Given the description of an element on the screen output the (x, y) to click on. 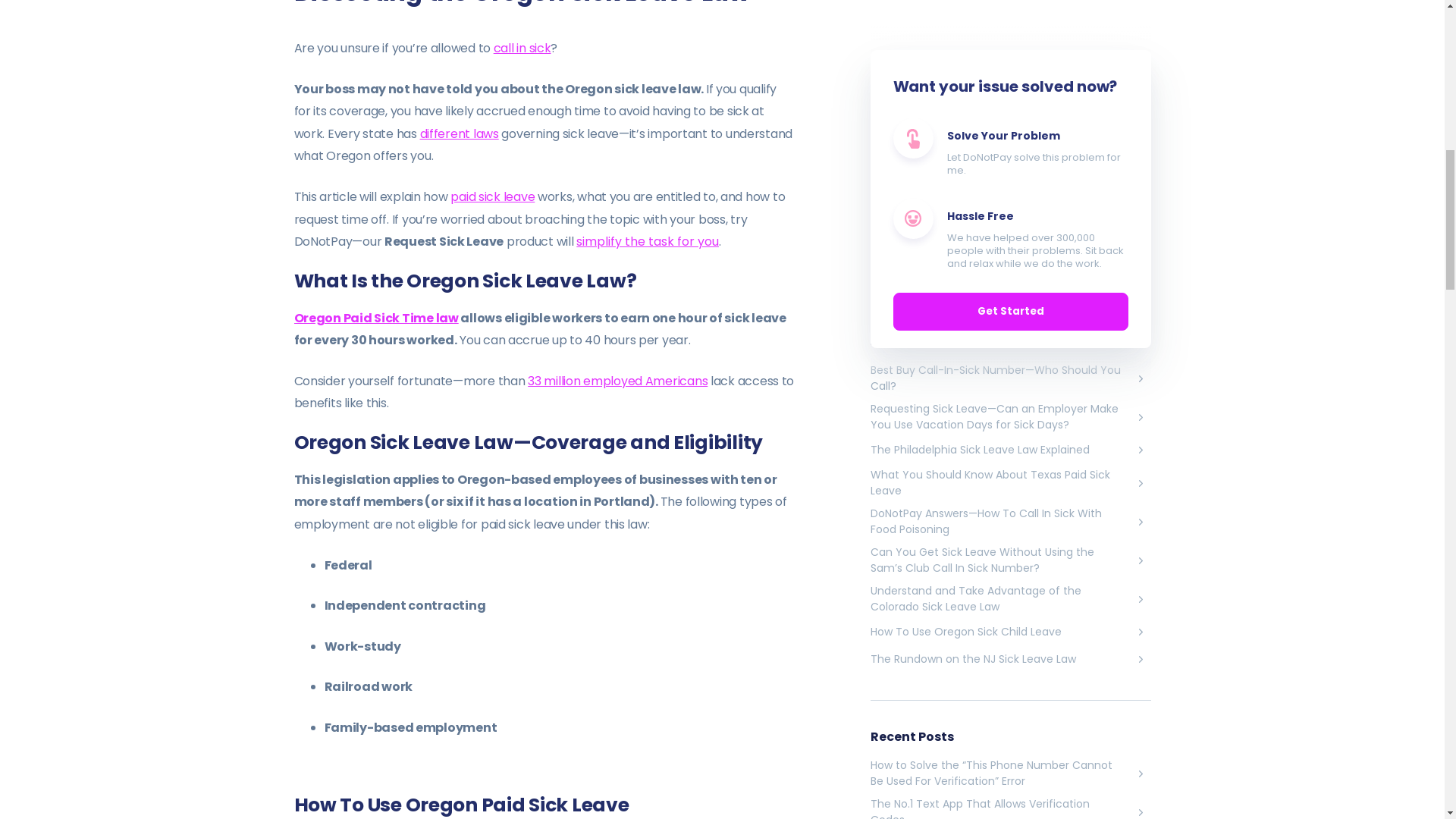
simplify the task for you (647, 240)
33 million employed Americans (617, 380)
call in sick (522, 47)
different laws (459, 133)
paid sick leave (491, 196)
Oregon Paid Sick Time law (376, 317)
